Given the description of an element on the screen output the (x, y) to click on. 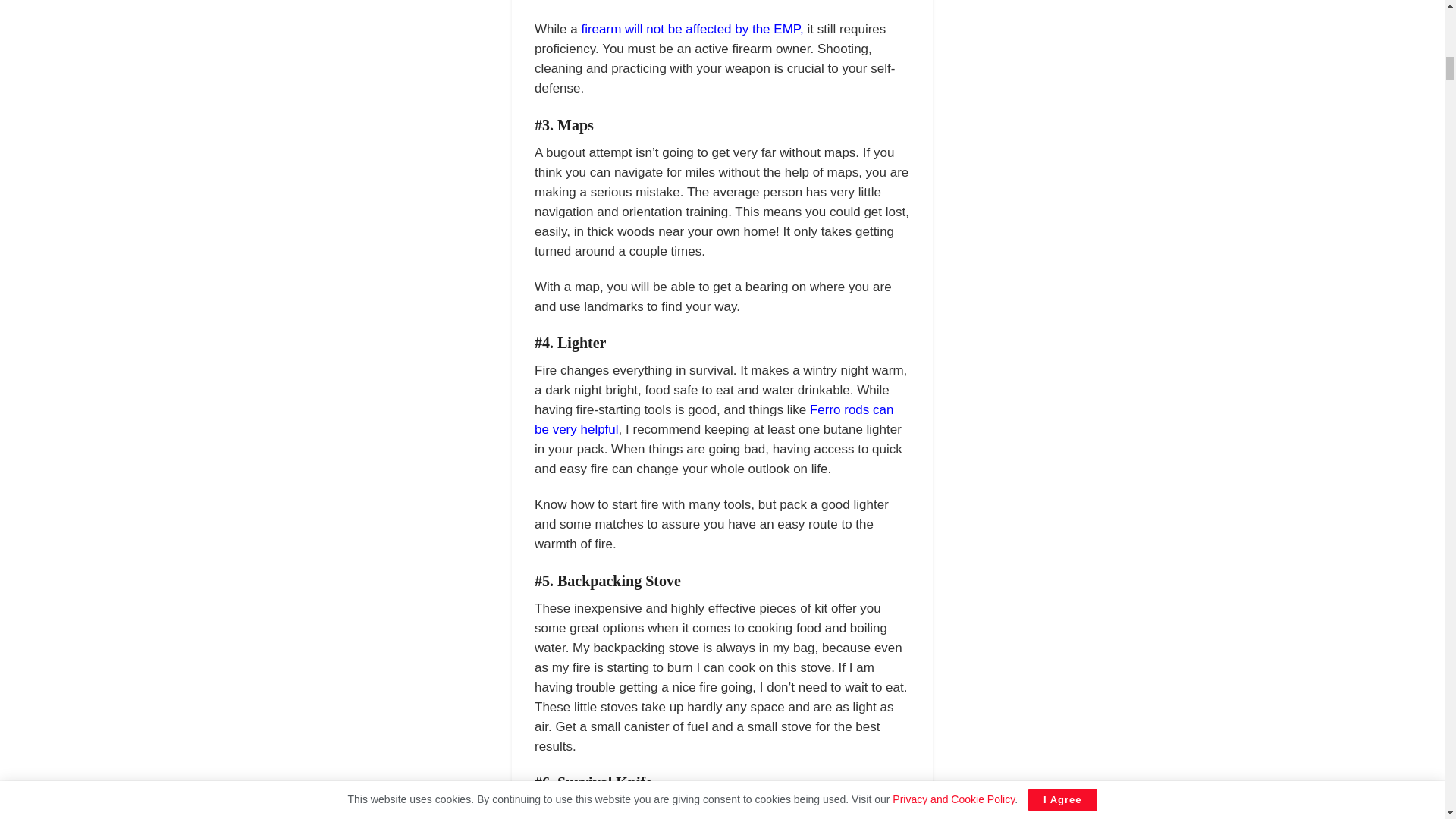
Ferro rods can be very helpful (713, 419)
firearm will not be affected by the EMP (689, 29)
